Given the description of an element on the screen output the (x, y) to click on. 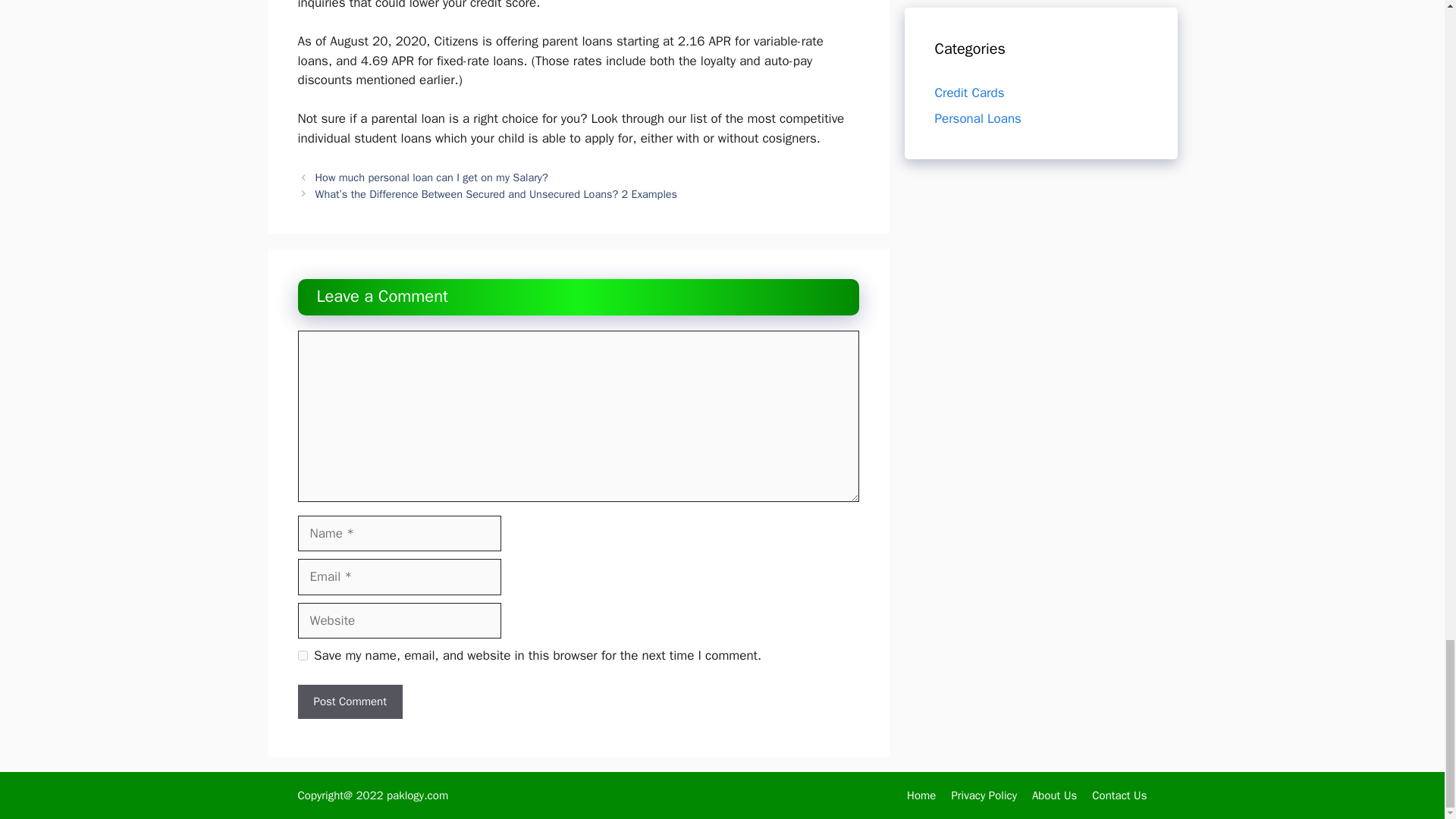
Privacy Policy (983, 795)
About Us (1054, 795)
Post Comment (349, 701)
yes (302, 655)
Home (921, 795)
Contact Us (1119, 795)
Post Comment (349, 701)
How much personal loan can I get on my Salary? (431, 177)
